Given the description of an element on the screen output the (x, y) to click on. 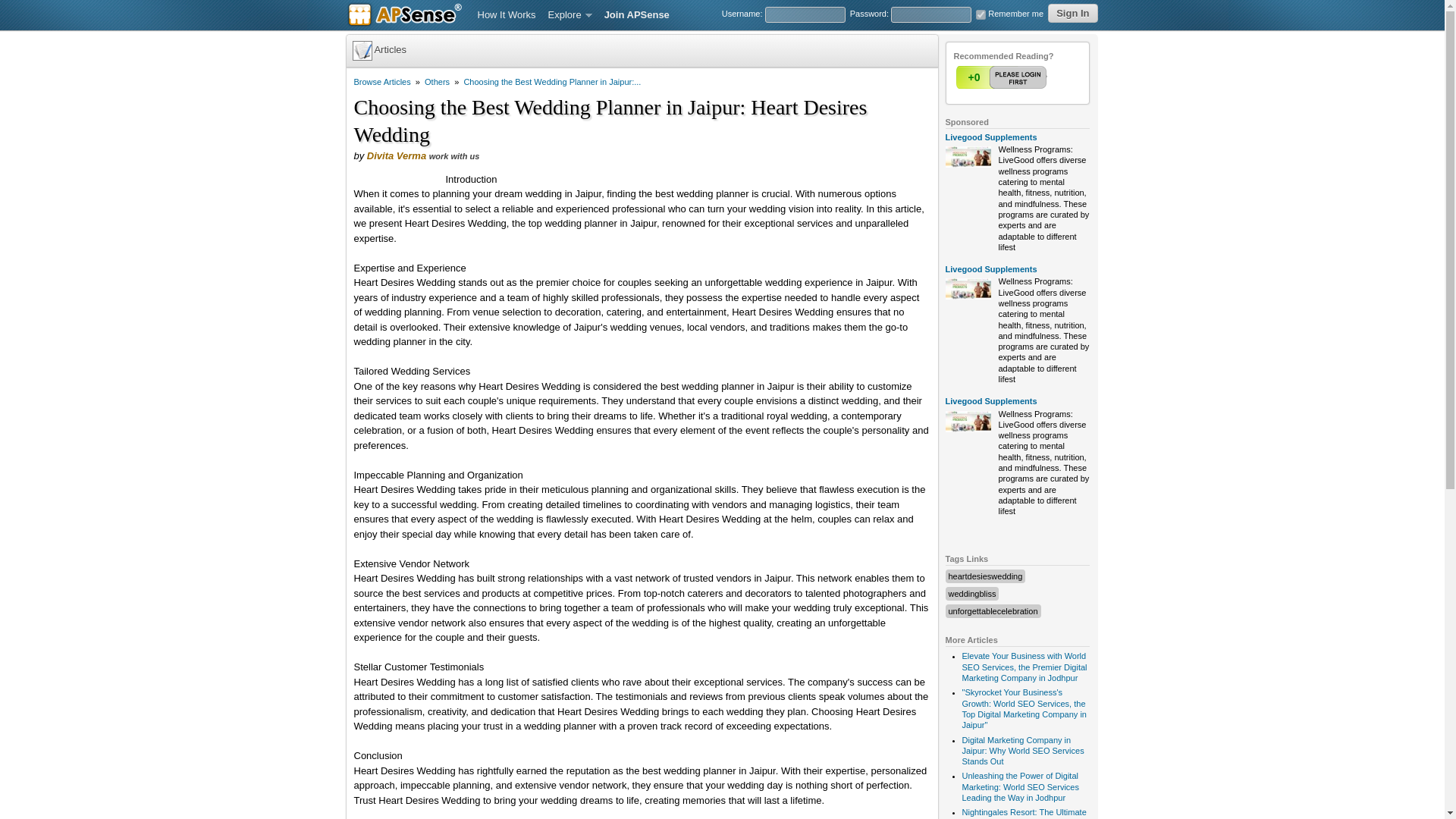
Vote Up (1002, 77)
Sign In (1072, 13)
Divita Verma (396, 155)
How It Works (506, 15)
Votes Up (973, 77)
Choosing the Best Wedding Planner in Jaipur:... (551, 81)
Others (437, 81)
Explore (569, 15)
Join APSense (636, 15)
Livegood Supplements (990, 400)
Livegood Supplements (990, 136)
-1 (1031, 77)
1 (980, 14)
